Given the description of an element on the screen output the (x, y) to click on. 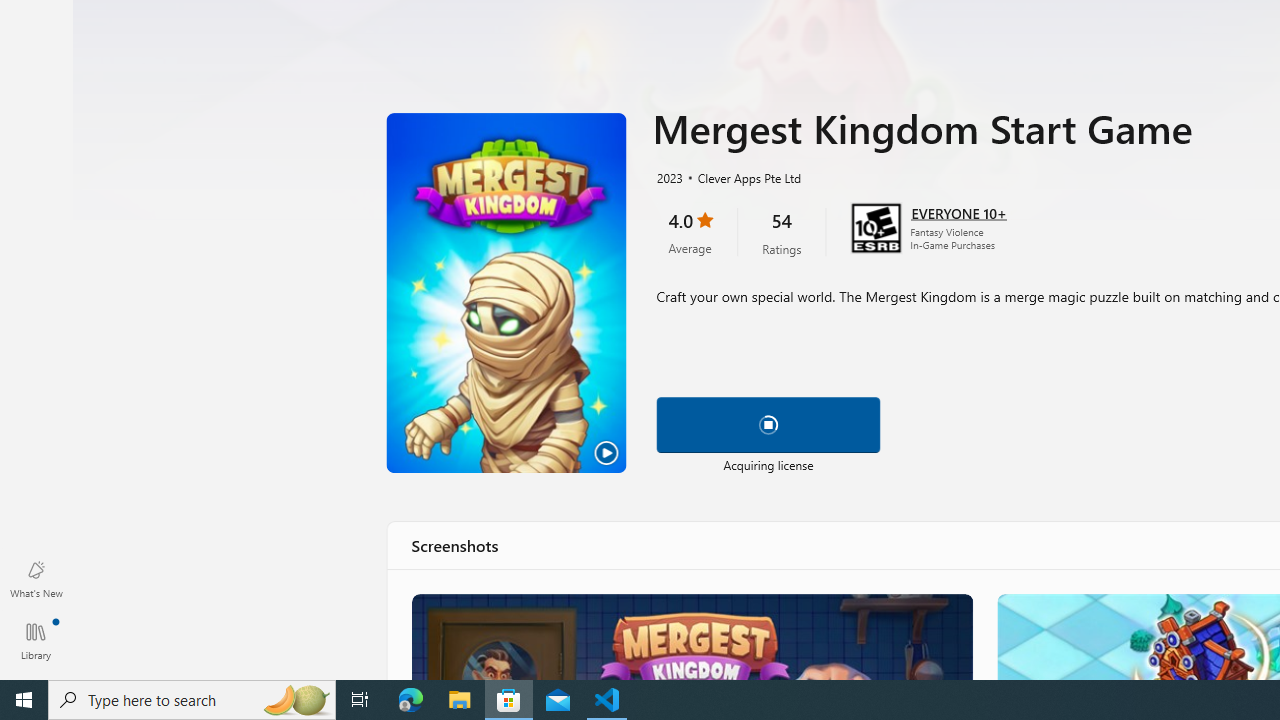
Library. Updates available (35, 640)
Play Trailer (505, 293)
Merge the way you want! (690, 636)
AutomationID: LottiePlayer (767, 424)
Age rating: EVERYONE 10+. Click for more information. (958, 211)
2023 (667, 177)
4.0 stars. Click to skip to ratings and reviews (689, 232)
Pause download (767, 424)
Clever Apps Pte Ltd (741, 177)
